Given the description of an element on the screen output the (x, y) to click on. 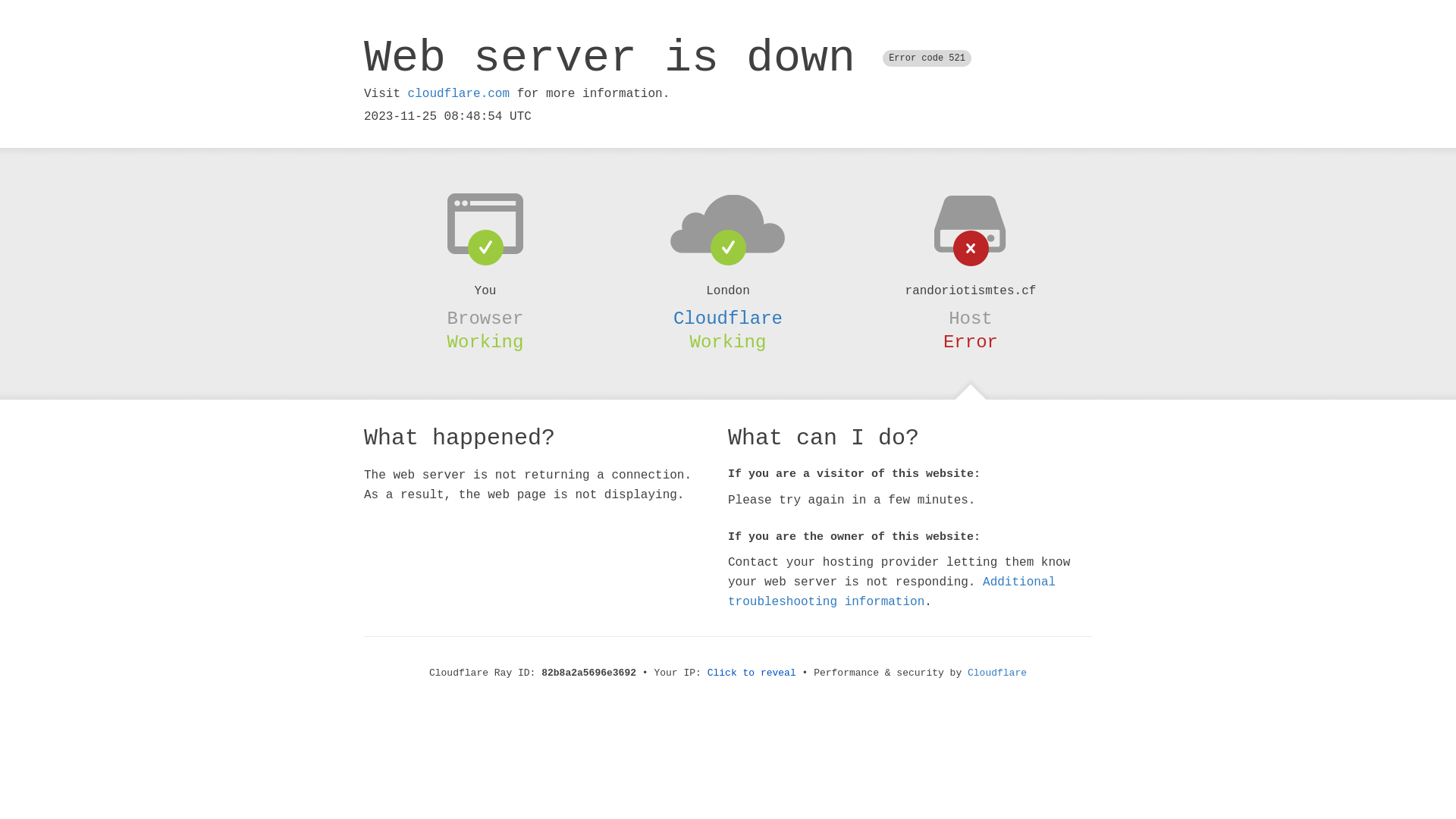
Cloudflare Element type: text (727, 318)
cloudflare.com Element type: text (458, 93)
Click to reveal Element type: text (751, 672)
Additional troubleshooting information Element type: text (891, 591)
Cloudflare Element type: text (996, 672)
